Given the description of an element on the screen output the (x, y) to click on. 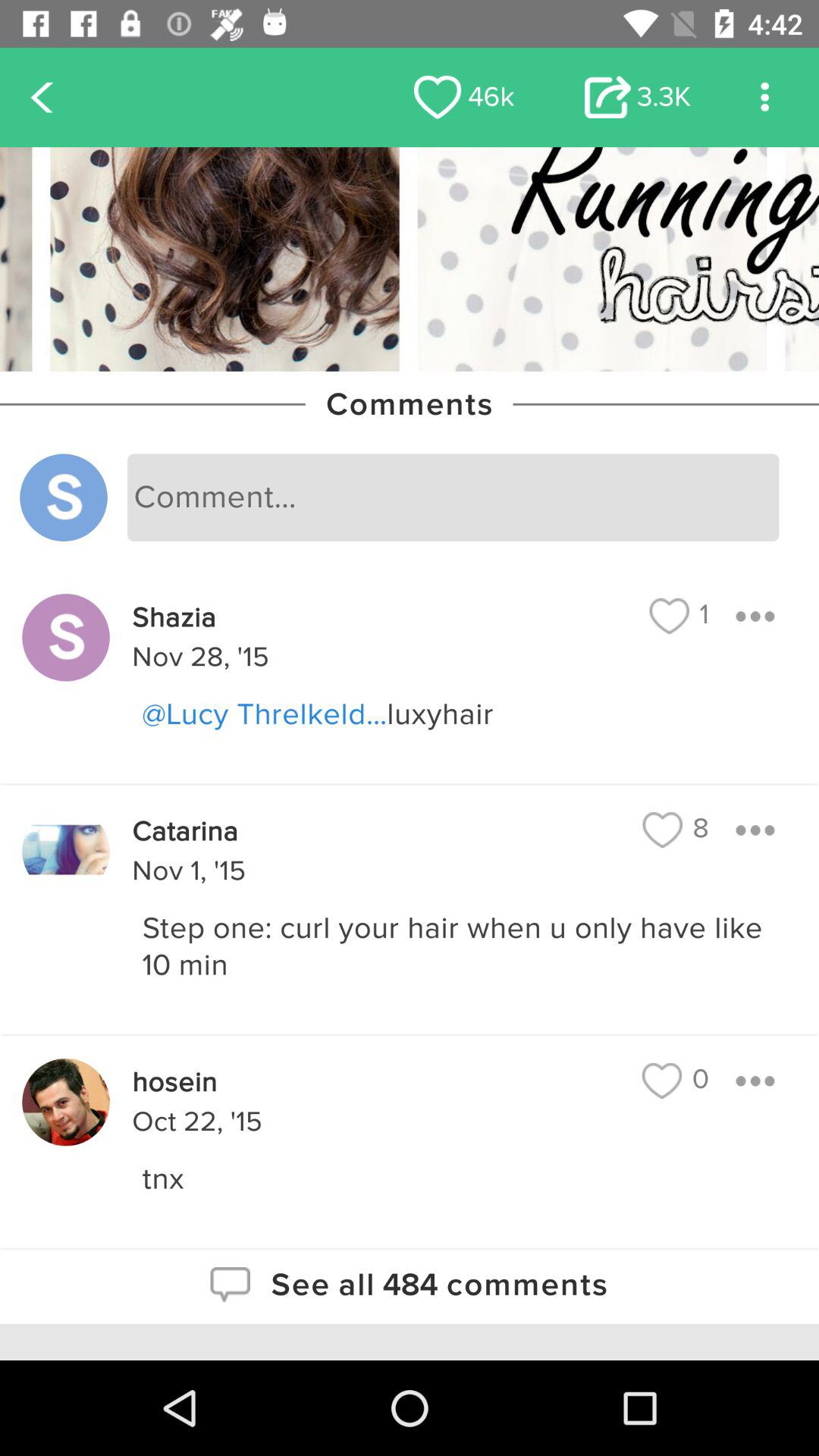
jump to the 46k (464, 97)
